Given the description of an element on the screen output the (x, y) to click on. 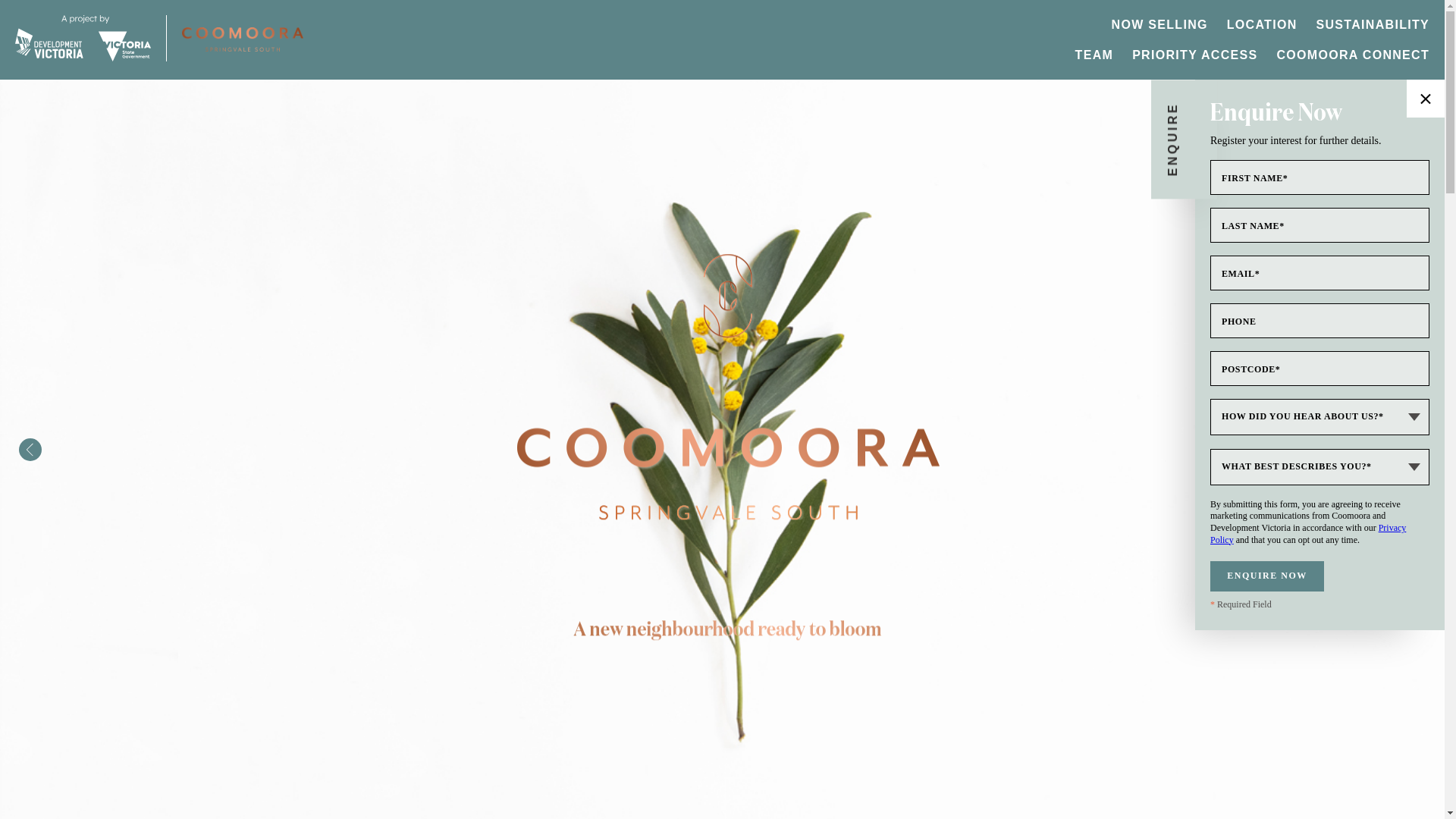
COOMOORA CONNECT Element type: text (1352, 54)
LOCATION Element type: text (1261, 24)
TEAM Element type: text (1094, 54)
Next Element type: text (1413, 449)
NOW SELLING Element type: text (1159, 24)
Privacy Policy Element type: text (1307, 533)
ENQUIRE NOW Element type: text (1267, 576)
Previous Element type: text (29, 449)
SUSTAINABILITY Element type: text (1372, 24)
PRIORITY ACCESS Element type: text (1194, 54)
